Given the description of an element on the screen output the (x, y) to click on. 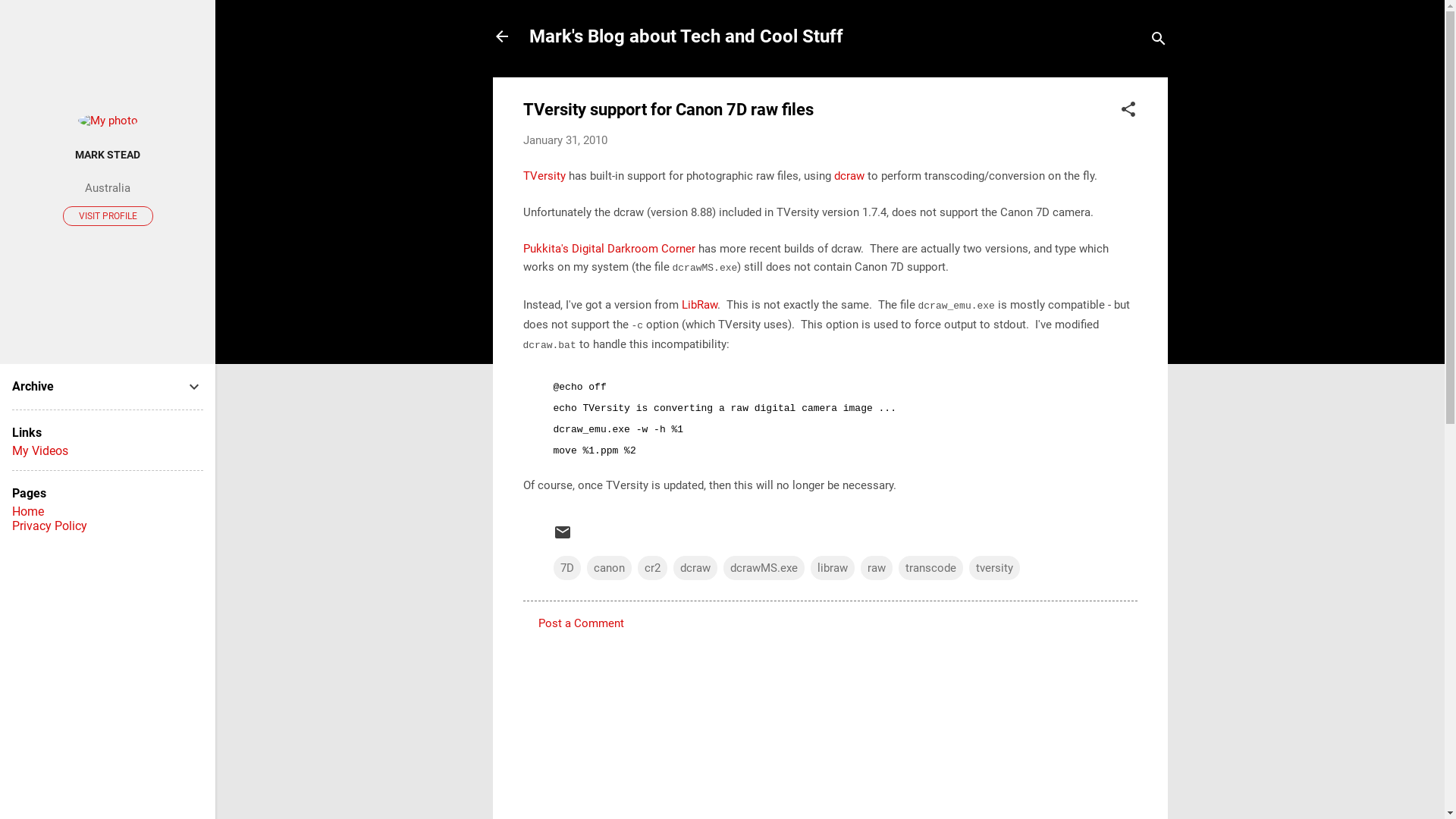
My Videos Element type: text (40, 450)
cr2 Element type: text (651, 567)
raw Element type: text (875, 567)
Pukkita's Digital Darkroom Corner Element type: text (609, 247)
dcrawMS.exe Element type: text (763, 567)
Post a Comment Element type: text (581, 623)
Home Element type: text (27, 511)
Search Element type: text (28, 18)
7D Element type: text (566, 567)
TVersity Element type: text (544, 175)
dcraw Element type: text (695, 567)
LibRaw Element type: text (698, 303)
VISIT PROFILE Element type: text (107, 215)
libraw Element type: text (831, 567)
dcraw Element type: text (849, 175)
Email Post Element type: hover (562, 537)
tversity Element type: text (994, 567)
Privacy Policy Element type: text (49, 525)
MARK STEAD Element type: text (107, 154)
Mark's Blog about Tech and Cool Stuff Element type: text (686, 36)
transcode Element type: text (929, 567)
January 31, 2010 Element type: text (565, 140)
canon Element type: text (608, 567)
